Given the description of an element on the screen output the (x, y) to click on. 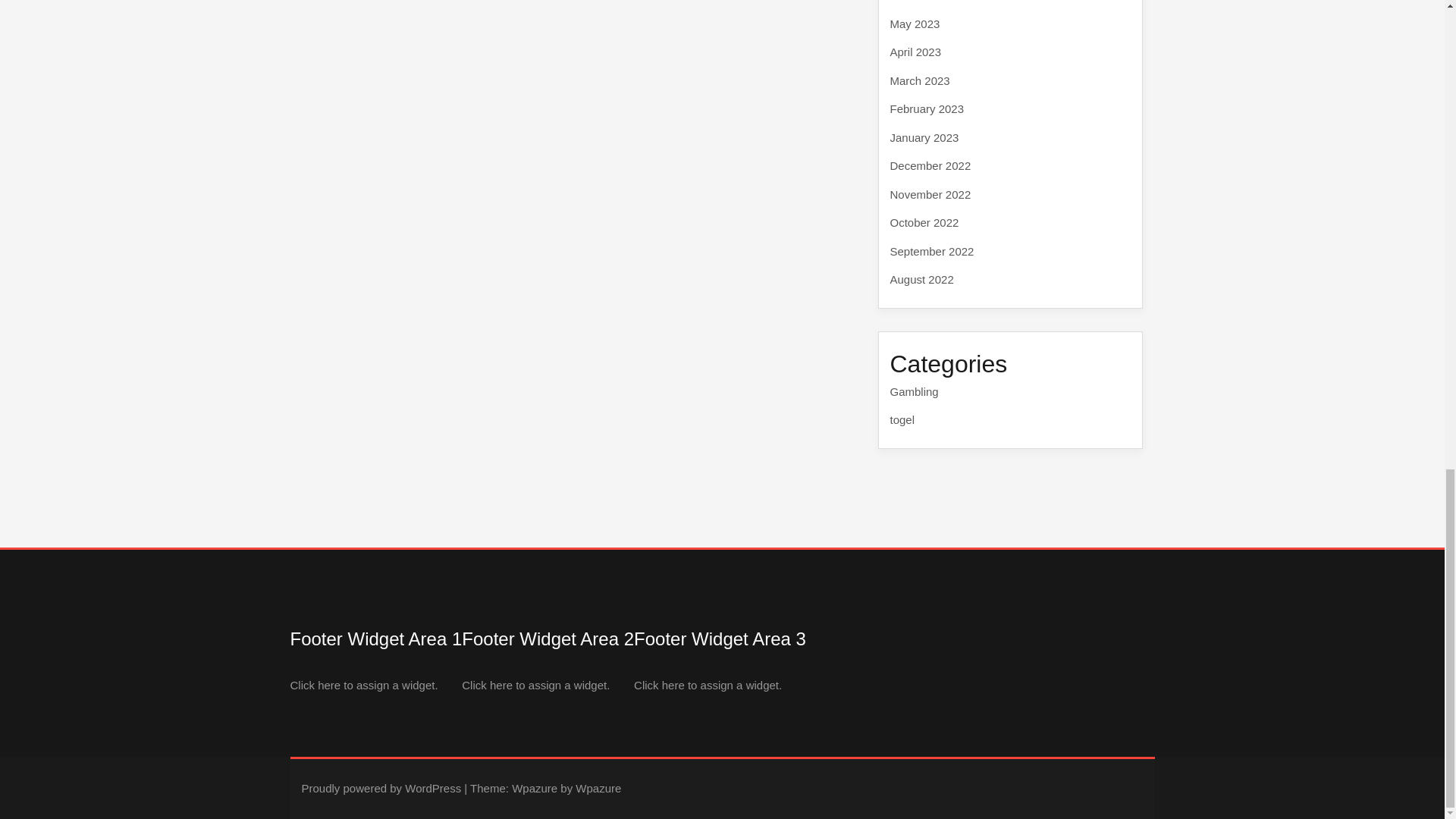
January 2023 (924, 137)
togel (902, 419)
April 2023 (915, 51)
Gambling (914, 390)
December 2022 (930, 164)
November 2022 (930, 193)
August 2022 (921, 278)
May 2023 (914, 23)
March 2023 (919, 79)
June 2023 (916, 0)
